Given the description of an element on the screen output the (x, y) to click on. 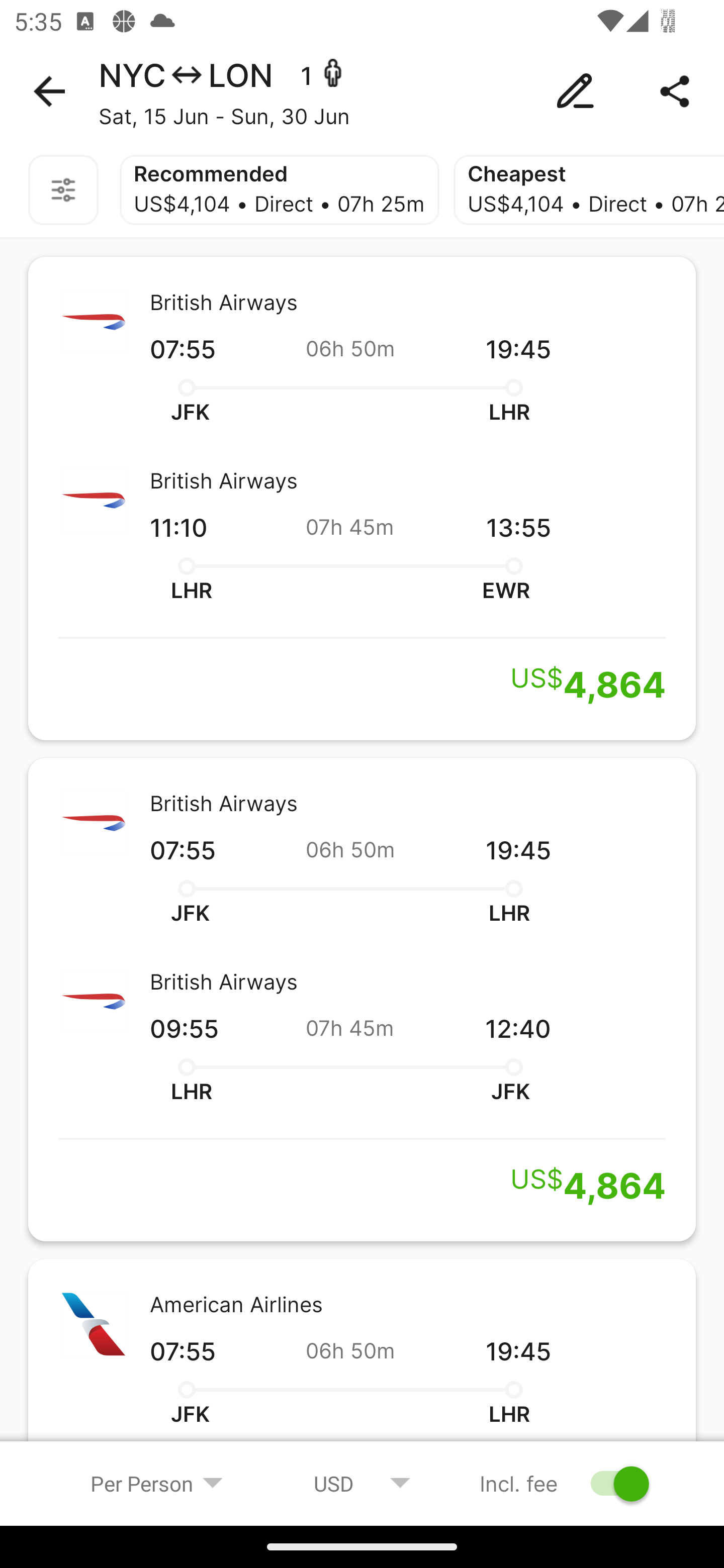
NYC LON   1 - Sat, 15 Jun - Sun, 30 Jun (361, 91)
Recommended  US$4,104 • Direct • 07h 25m (279, 190)
Cheapest US$4,104 • Direct • 07h 25m (588, 190)
Per Person (156, 1482)
USD (361, 1482)
